Given the description of an element on the screen output the (x, y) to click on. 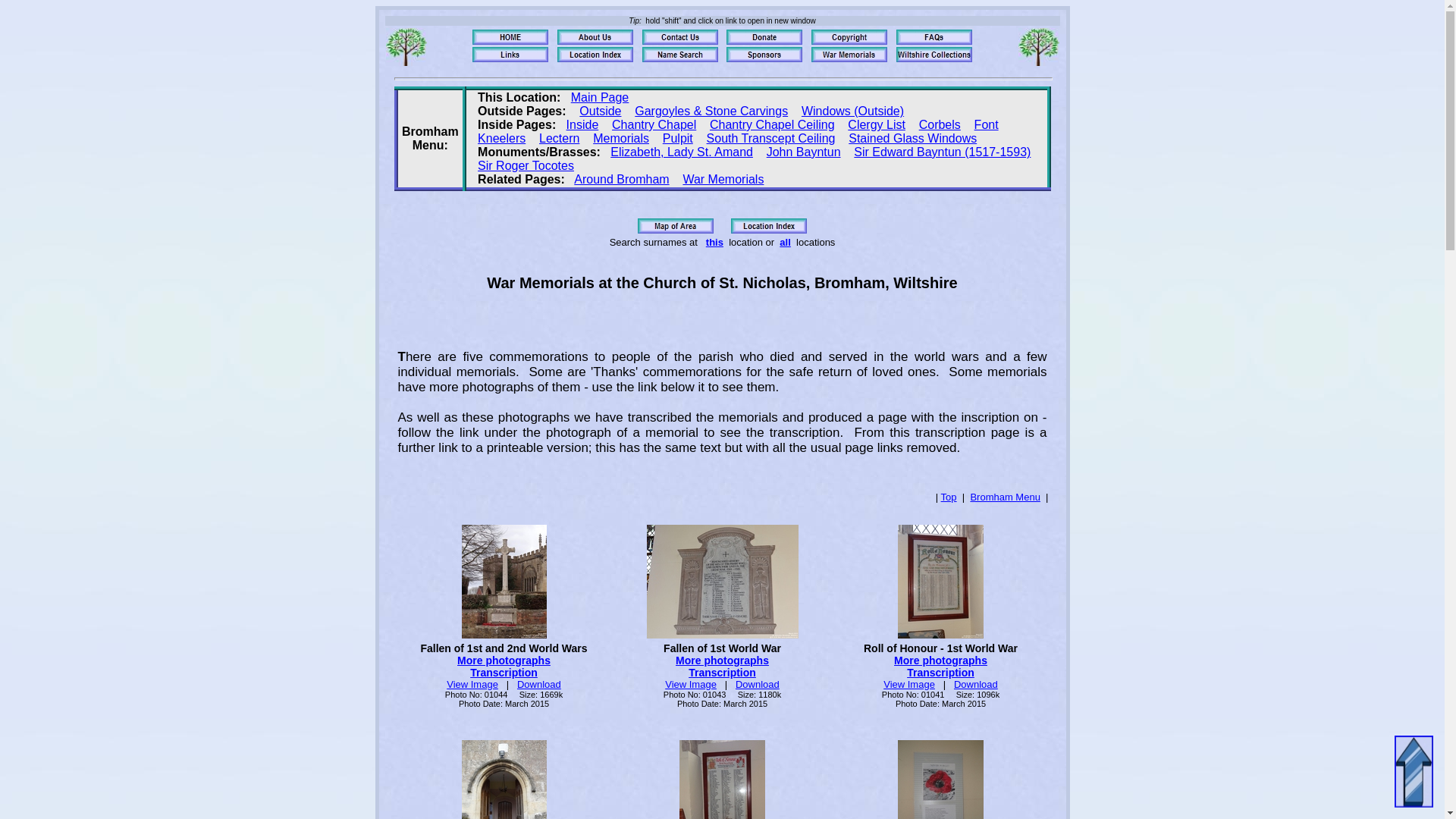
Information about this website (934, 37)
Inside (582, 124)
Elizabeth, Lady St. Amand (681, 151)
War Memorials (722, 178)
Kneelers (501, 137)
Chantry Chapel (653, 124)
Pulpit (677, 137)
Search names for all locations (679, 54)
Contact Us (679, 37)
Font (986, 124)
Memorials (620, 137)
Main Page (599, 97)
Stained Glass Windows (912, 137)
